Given the description of an element on the screen output the (x, y) to click on. 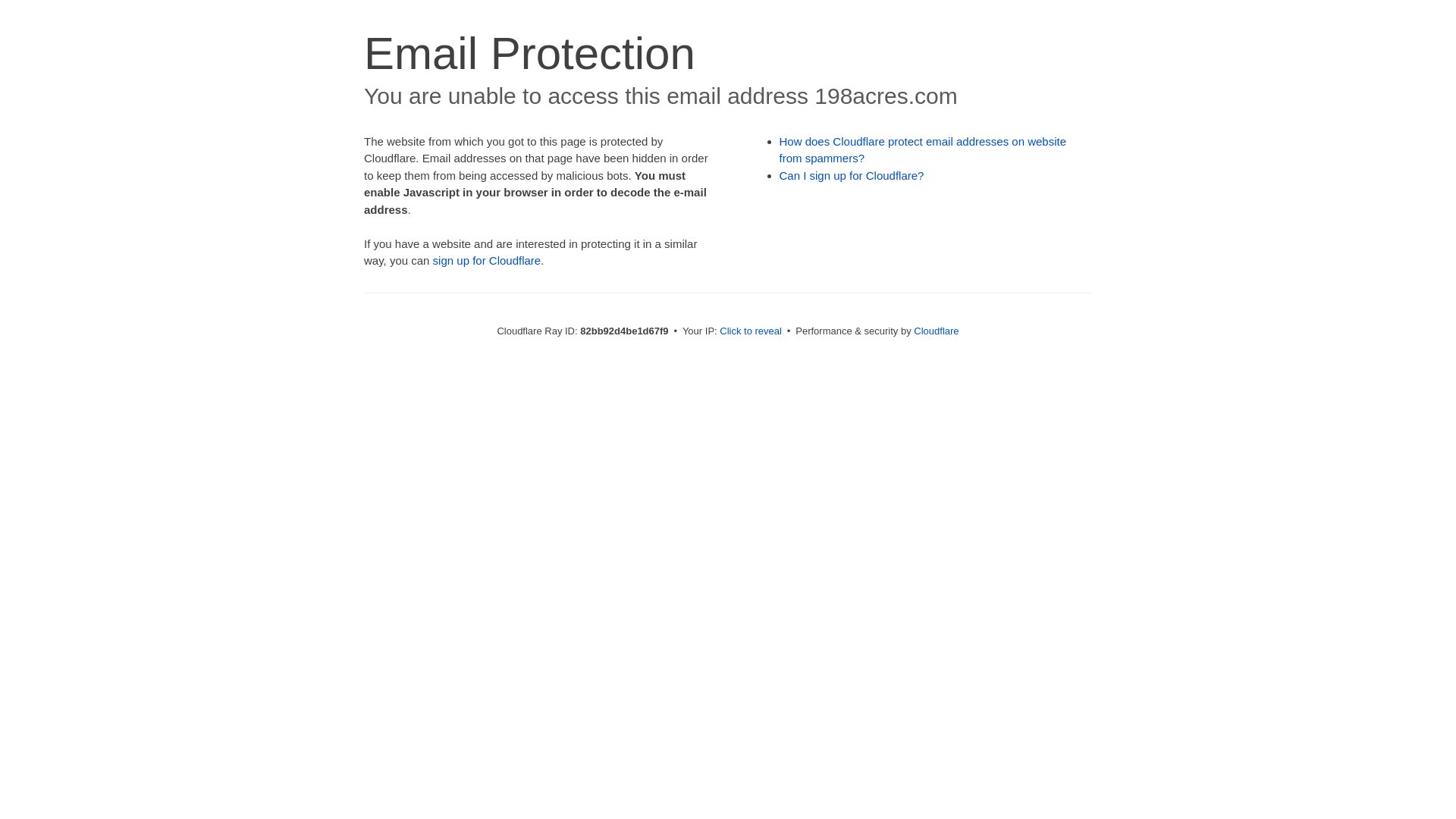
Can I sign up for Cloudflare? Element type: text (851, 175)
sign up for Cloudflare Element type: text (487, 260)
Click to reveal Element type: text (750, 330)
Cloudflare Element type: text (935, 330)
